Given the description of an element on the screen output the (x, y) to click on. 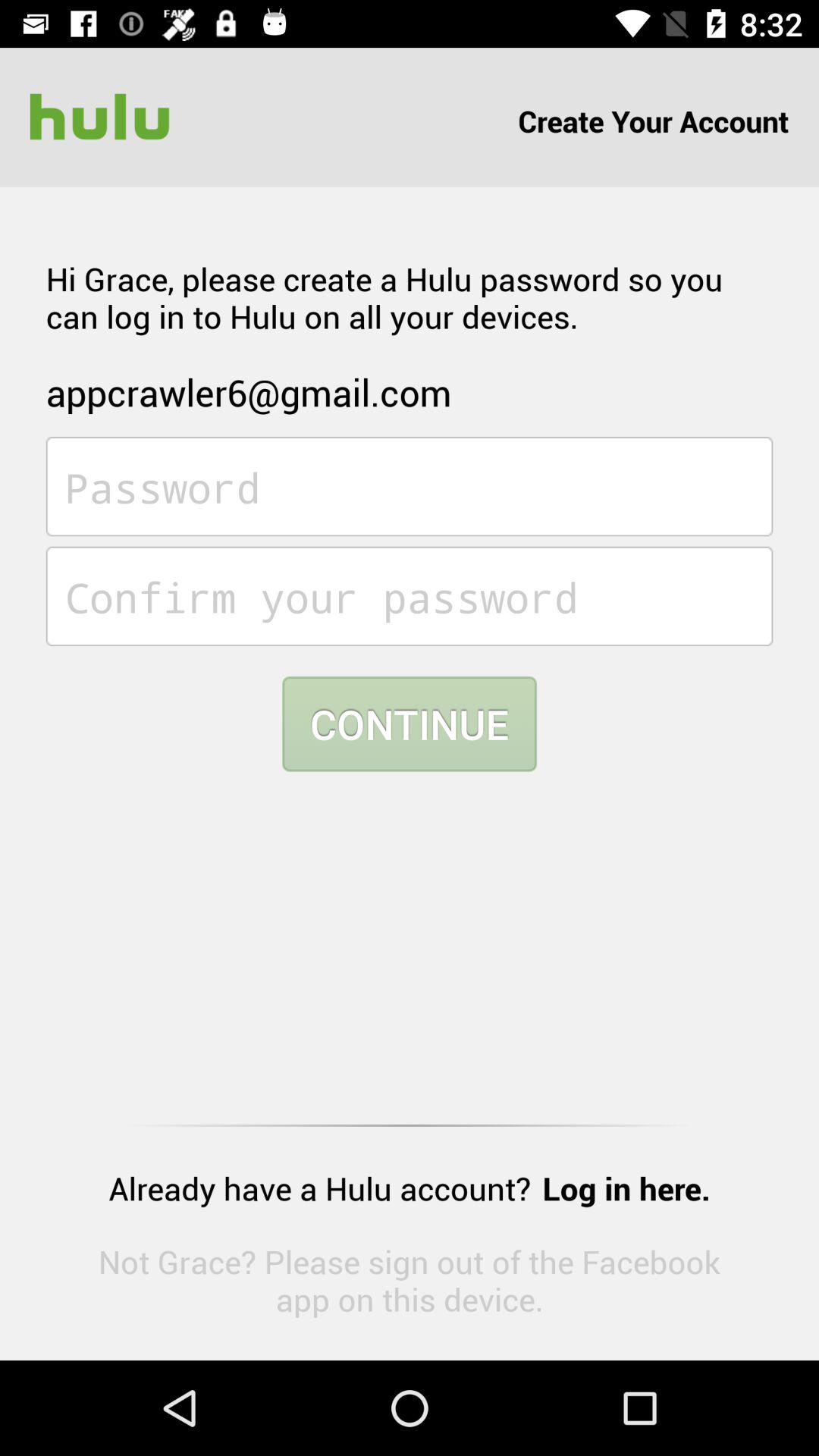
confirm password (409, 596)
